Given the description of an element on the screen output the (x, y) to click on. 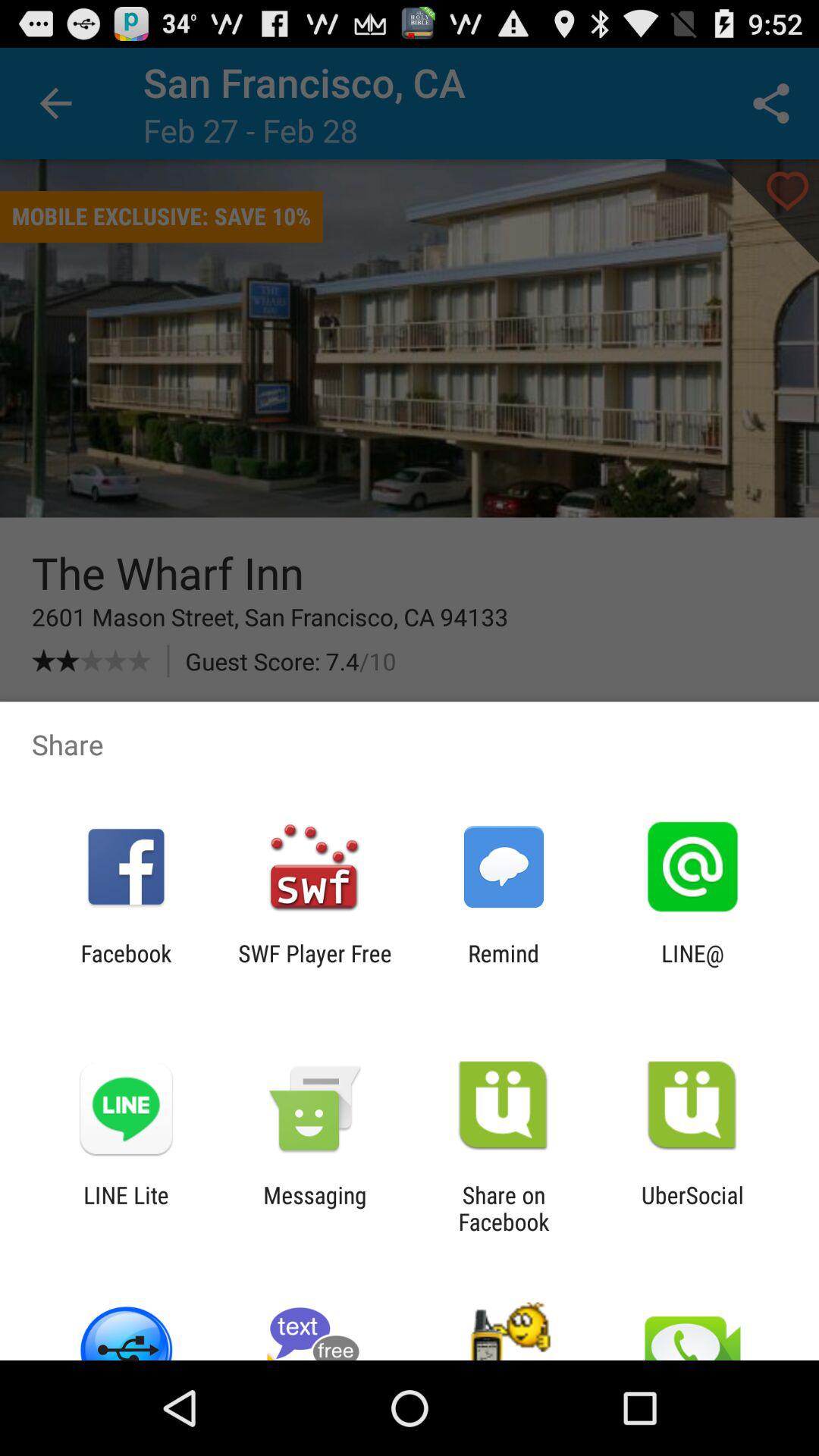
turn off icon next to messaging icon (125, 1208)
